Given the description of an element on the screen output the (x, y) to click on. 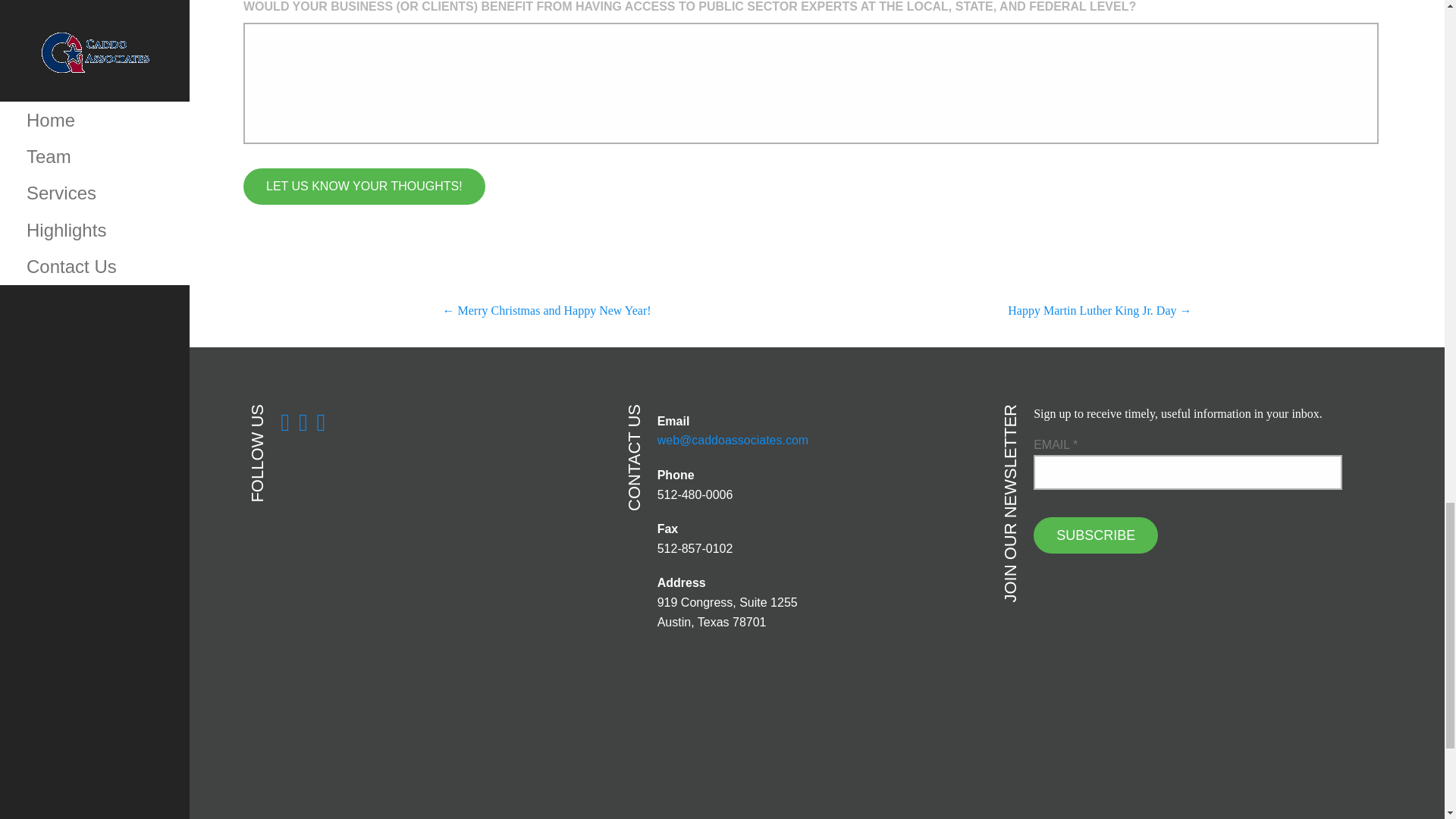
Subscribe (1095, 534)
Subscribe (1095, 534)
Let us know your thoughts! (363, 186)
Let us know your thoughts! (363, 186)
